Given the description of an element on the screen output the (x, y) to click on. 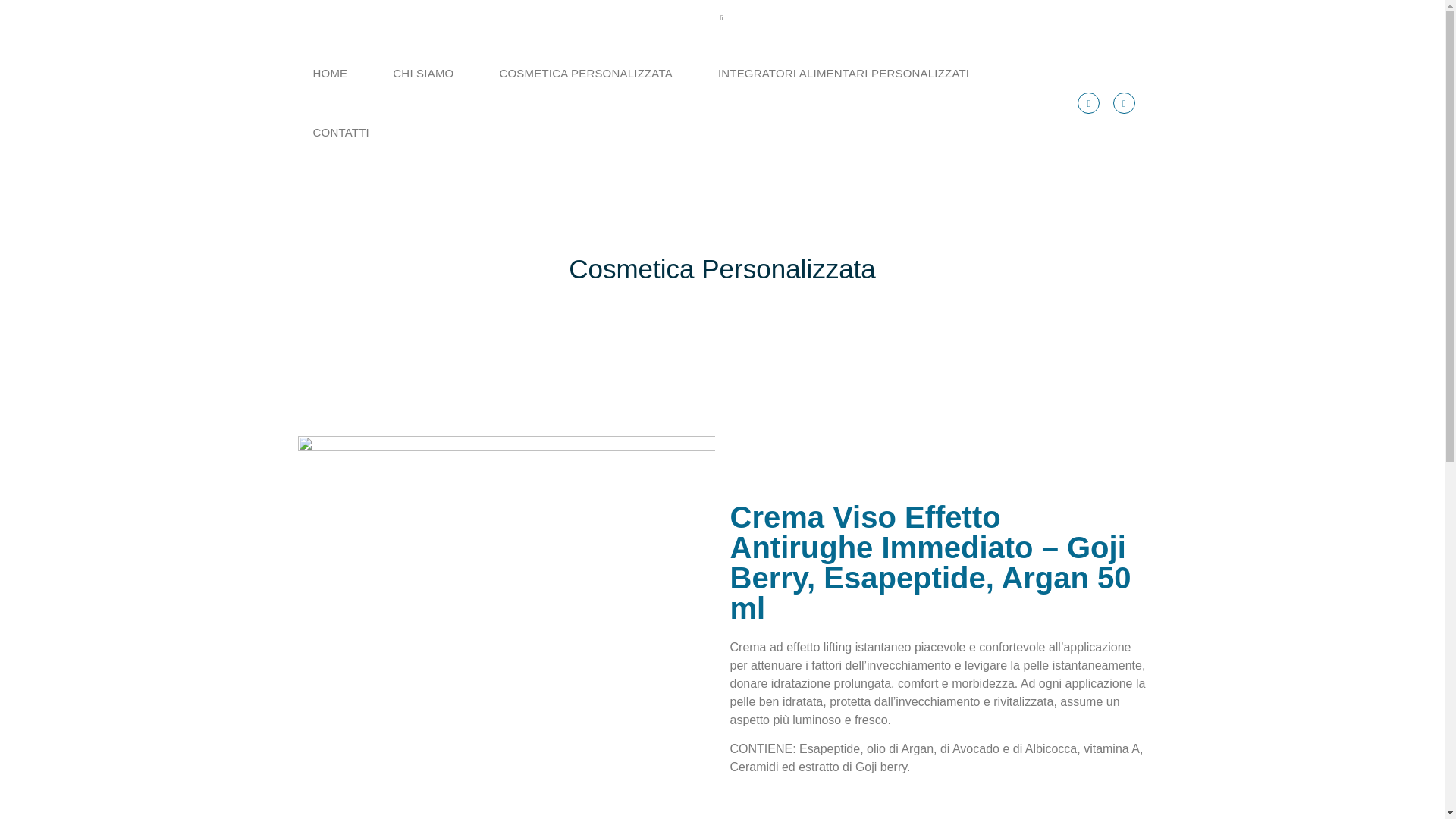
CONTATTI Element type: text (340, 132)
CHI SIAMO Element type: text (423, 73)
INTEGRATORI ALIMENTARI PERSONALIZZATI Element type: text (843, 73)
HOME Element type: text (329, 73)
COSMETICA PERSONALIZZATA Element type: text (585, 73)
